Given the description of an element on the screen output the (x, y) to click on. 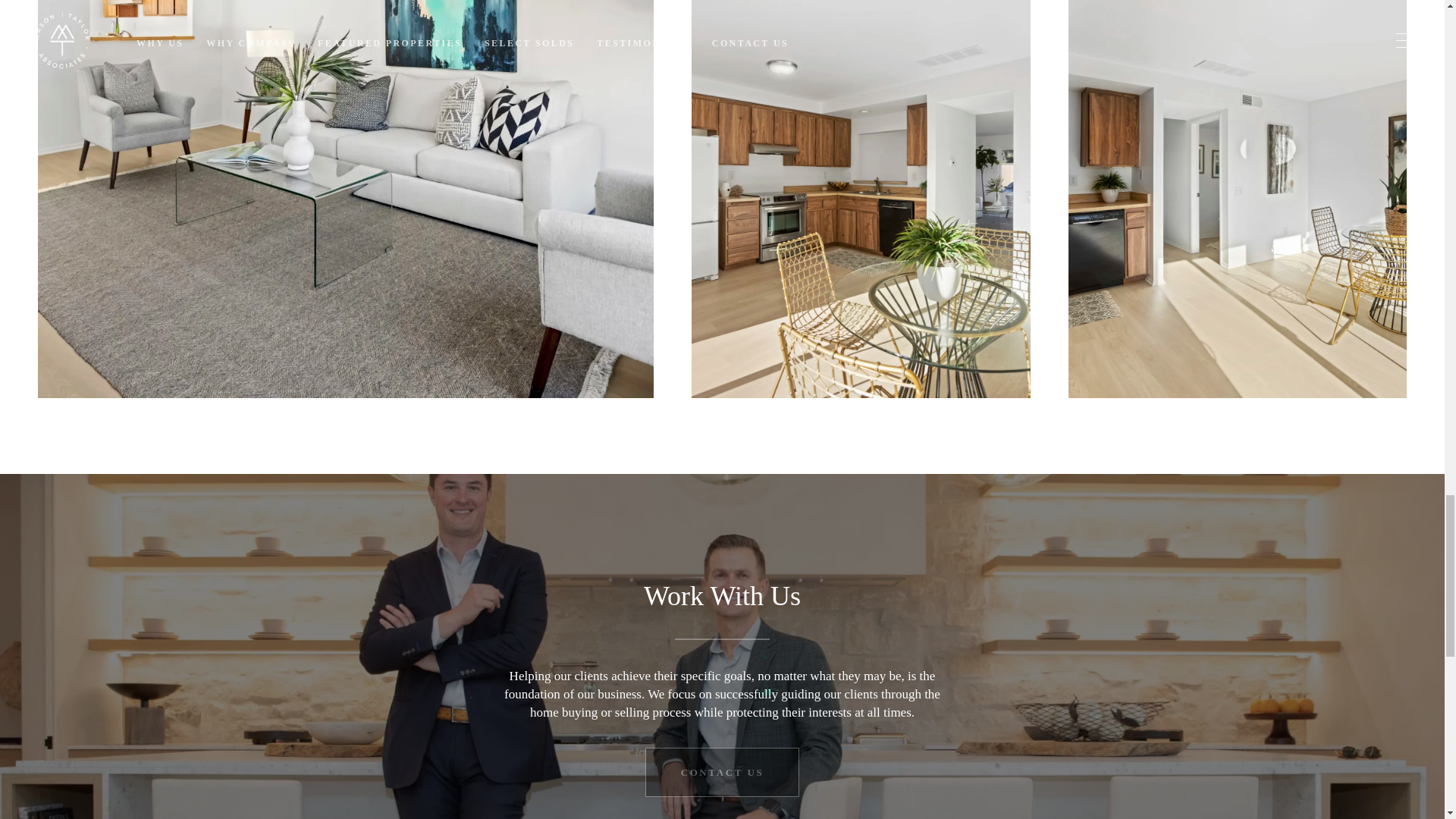
CONTACT US (722, 771)
